Given the description of an element on the screen output the (x, y) to click on. 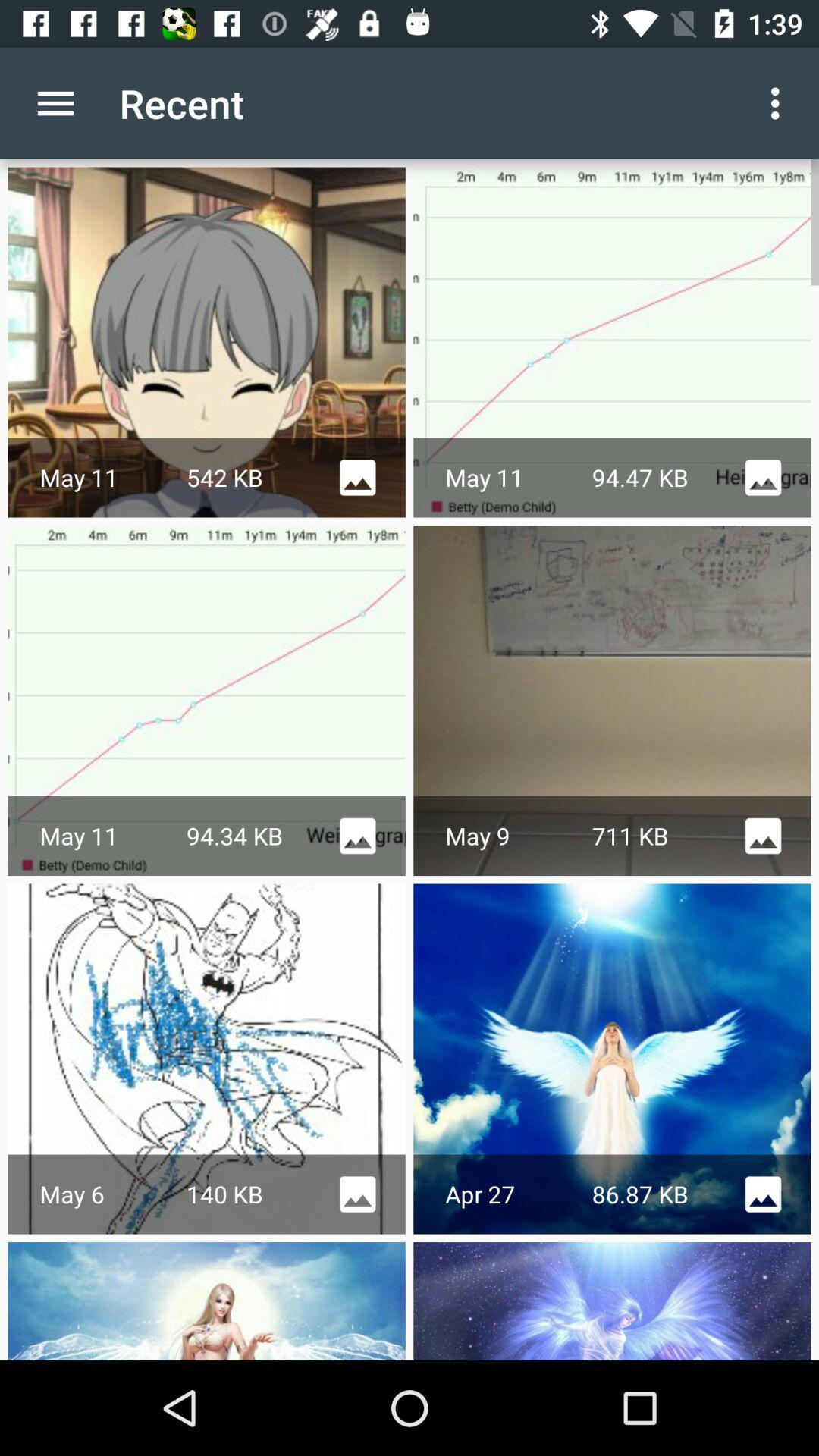
click icon to the right of recent item (779, 103)
